Given the description of an element on the screen output the (x, y) to click on. 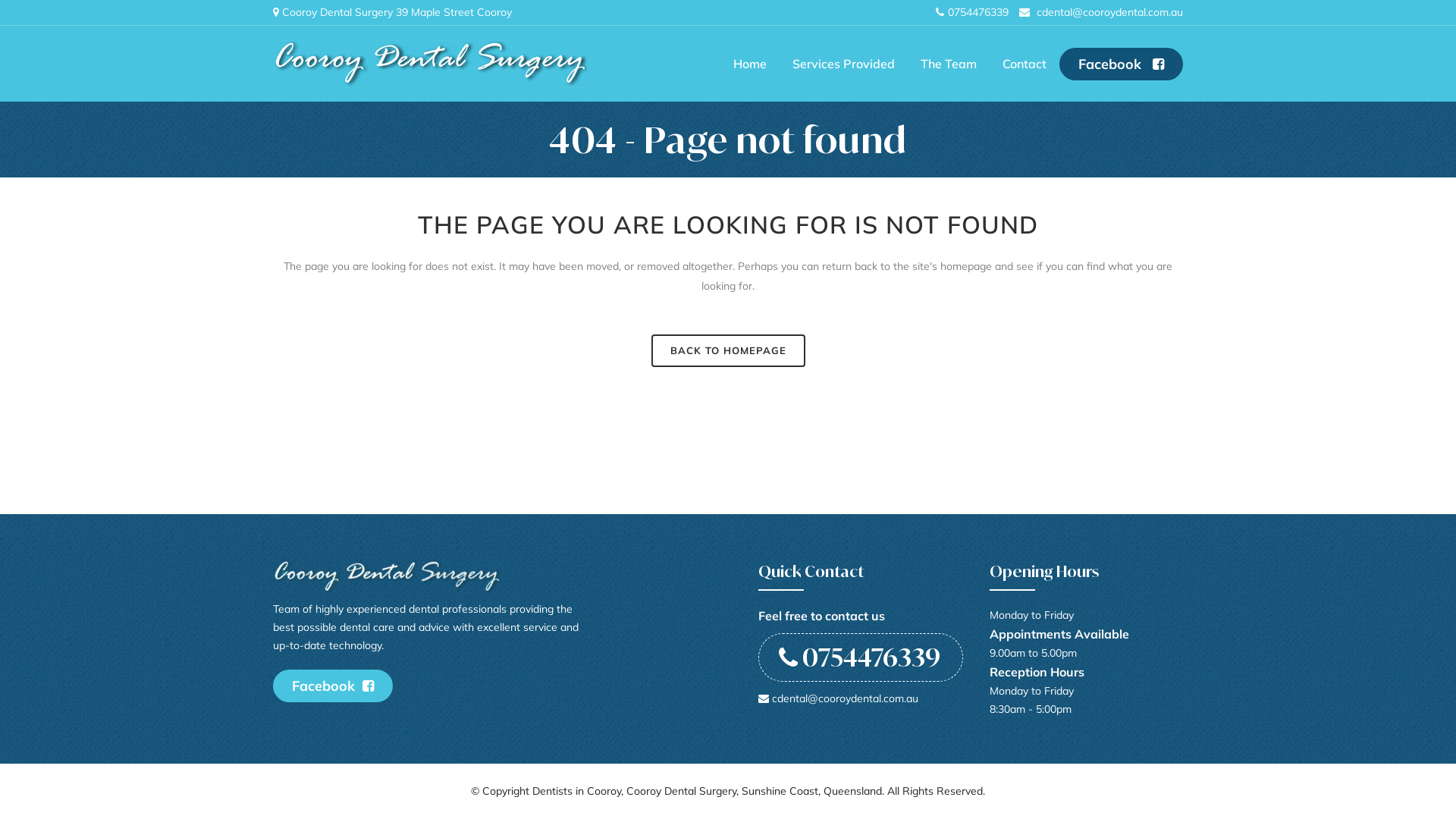
0754476339 Element type: text (860, 657)
BACK TO HOMEPAGE Element type: text (727, 350)
cdental@cooroydental.com.au Element type: text (838, 698)
Services Provided Element type: text (843, 63)
Facebook Element type: text (332, 685)
The Team Element type: text (948, 63)
Contact Element type: text (1024, 63)
0754476339 Element type: text (977, 11)
Facebook Element type: text (1121, 63)
cdental@cooroydental.com.au Element type: text (1109, 11)
Home Element type: text (749, 63)
